Given the description of an element on the screen output the (x, y) to click on. 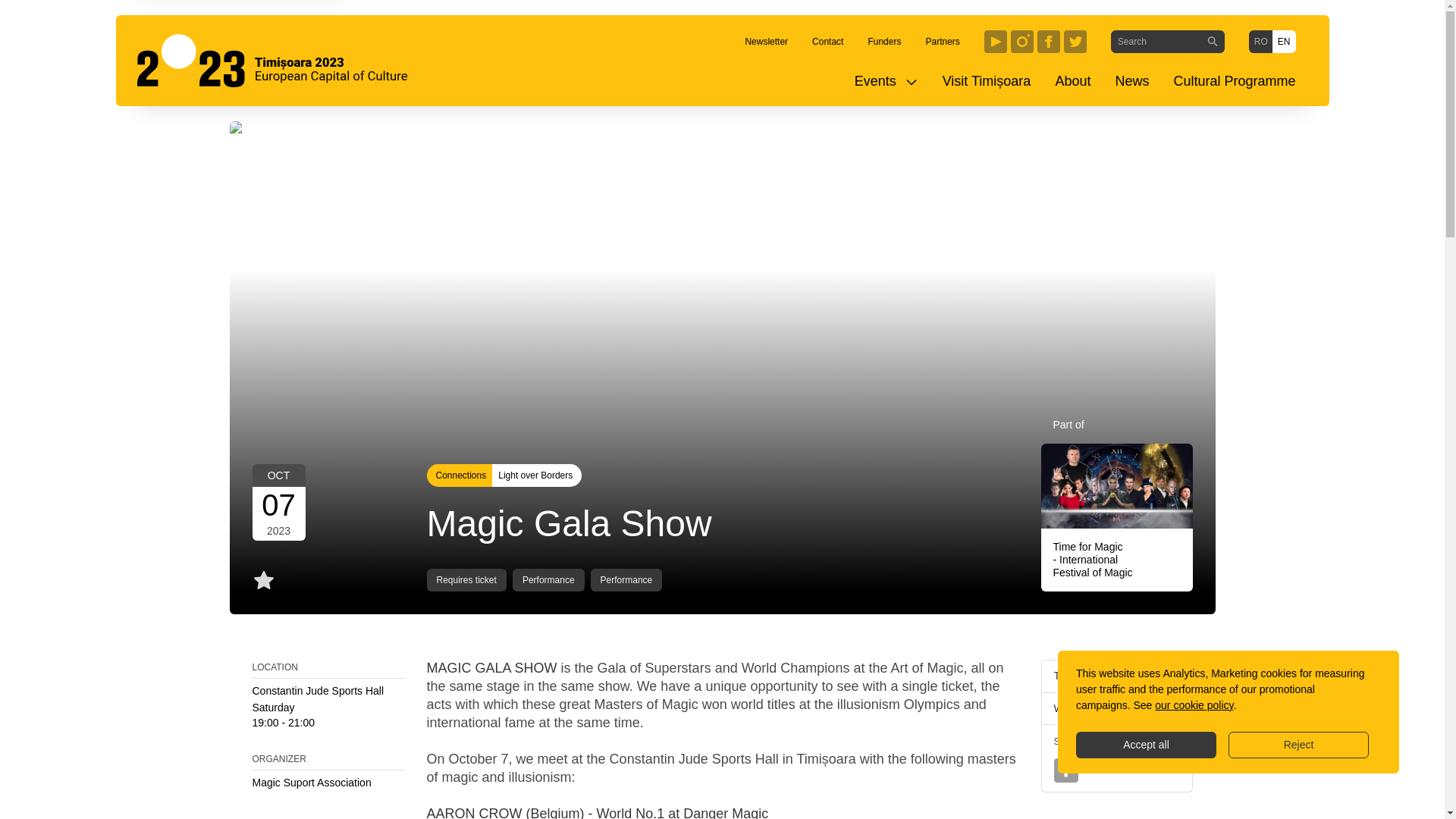
Newsletter (765, 41)
Funders (884, 41)
our cookie policy (1193, 705)
Contact (827, 41)
About (1072, 81)
RO (1260, 41)
EN (1283, 41)
Cultural Programme (1233, 81)
Add to favorites (263, 579)
News (1131, 81)
Partners (941, 41)
